Given the description of an element on the screen output the (x, y) to click on. 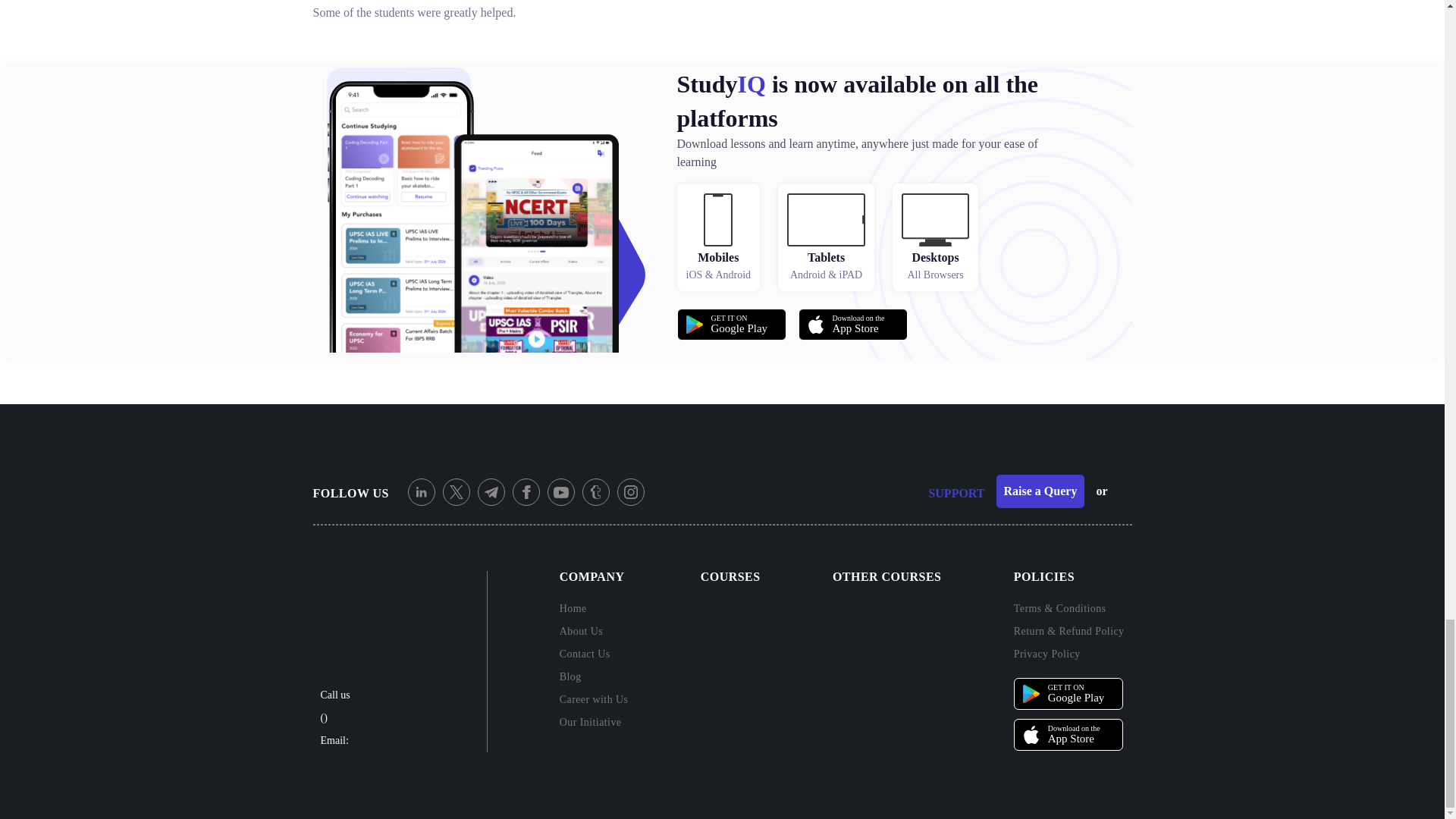
Home (572, 608)
Contact Us (593, 653)
About Us (593, 639)
Blog (852, 324)
